Given the description of an element on the screen output the (x, y) to click on. 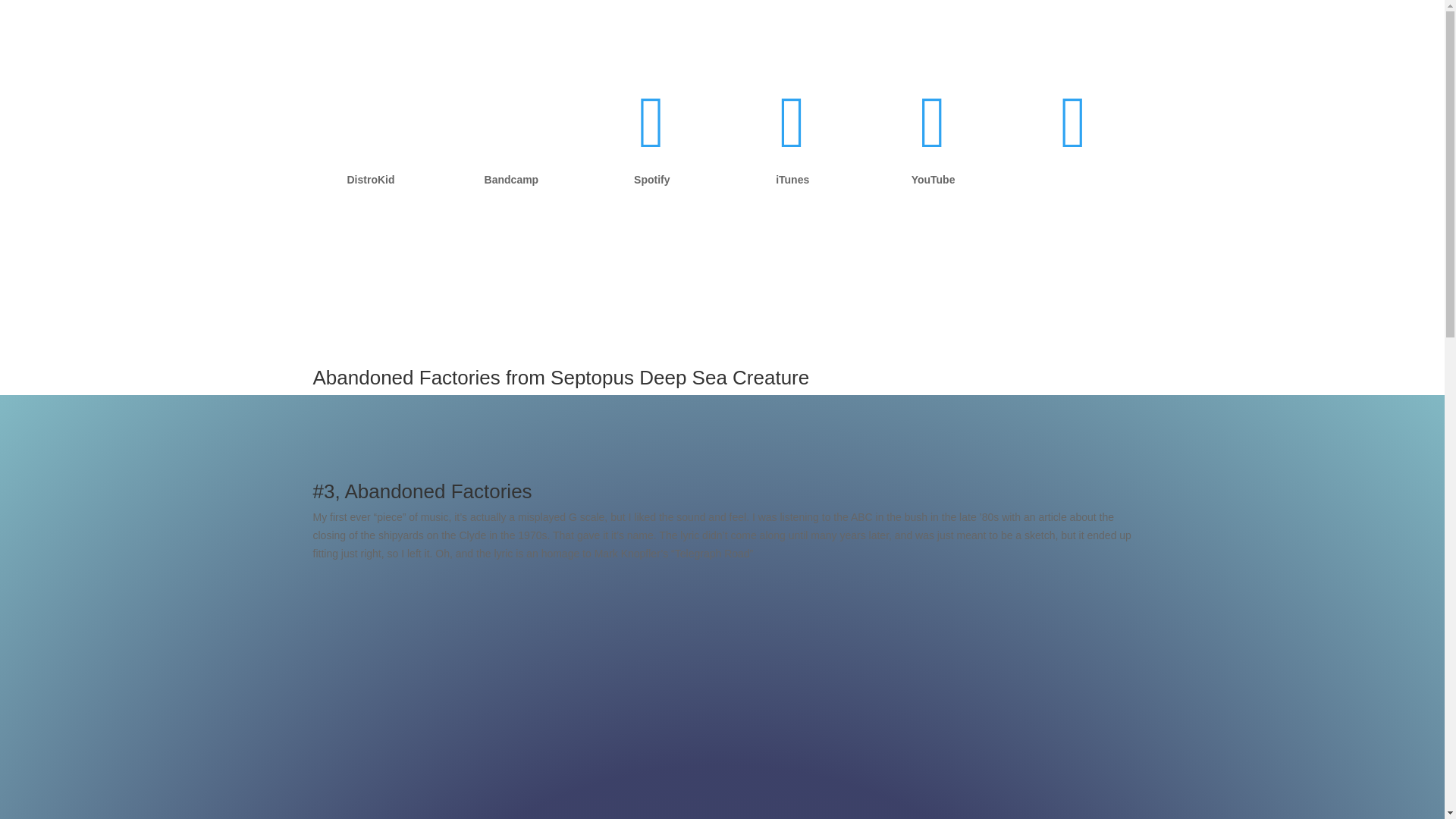
Tony Squires (1072, 143)
About Us (1096, 185)
Tony Squires (652, 143)
Tony Squires (933, 143)
Tony Squires (792, 143)
Home (1043, 185)
